Given the description of an element on the screen output the (x, y) to click on. 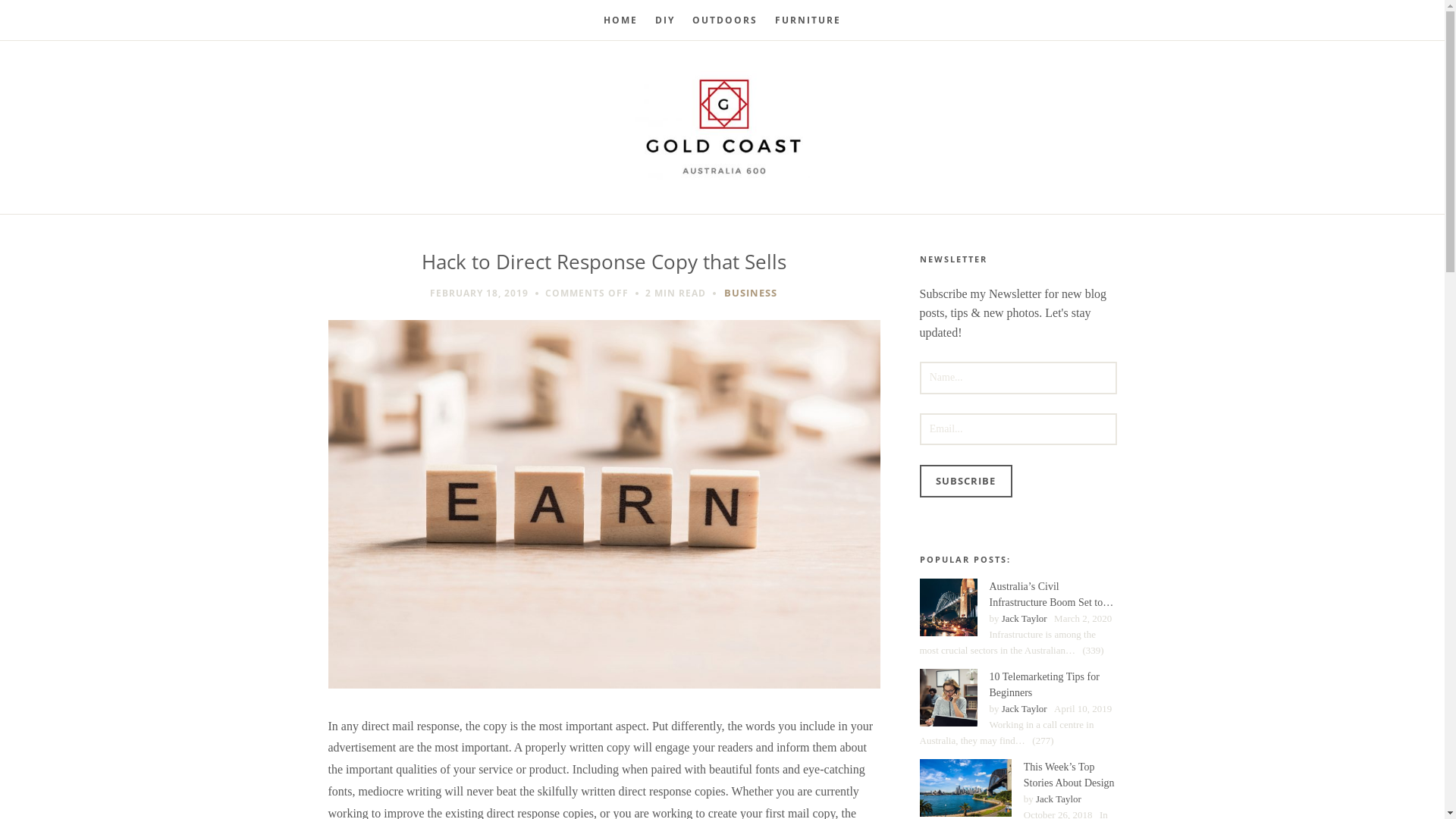
BUSINESS Element type: text (749, 292)
Subscribe Element type: text (965, 480)
10 Telemarketing Tips for Beginners Element type: text (1017, 684)
OUTDOORS Element type: text (724, 20)
HOME Element type: text (620, 20)
This Week's Top Stories About Design Element type: hover (964, 787)
Jack Taylor Element type: text (1024, 618)
FURNITURE Element type: text (807, 20)
Jack Taylor Element type: text (1024, 708)
Jack Taylor Element type: text (1058, 798)
10 Telemarketing Tips for Beginners Element type: hover (947, 697)
DIY Element type: text (664, 20)
